Given the description of an element on the screen output the (x, y) to click on. 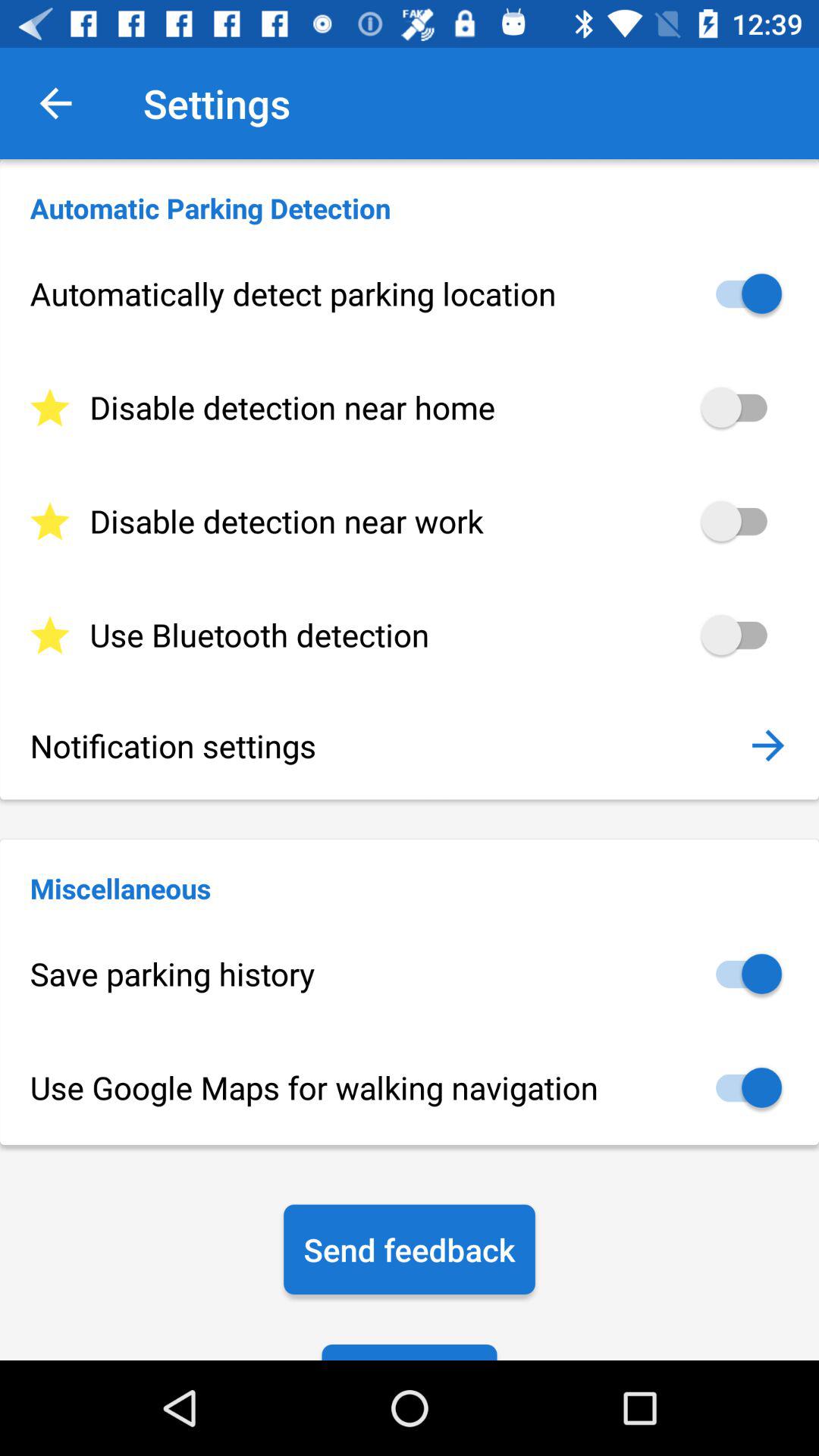
launch icon next to the settings icon (55, 103)
